Given the description of an element on the screen output the (x, y) to click on. 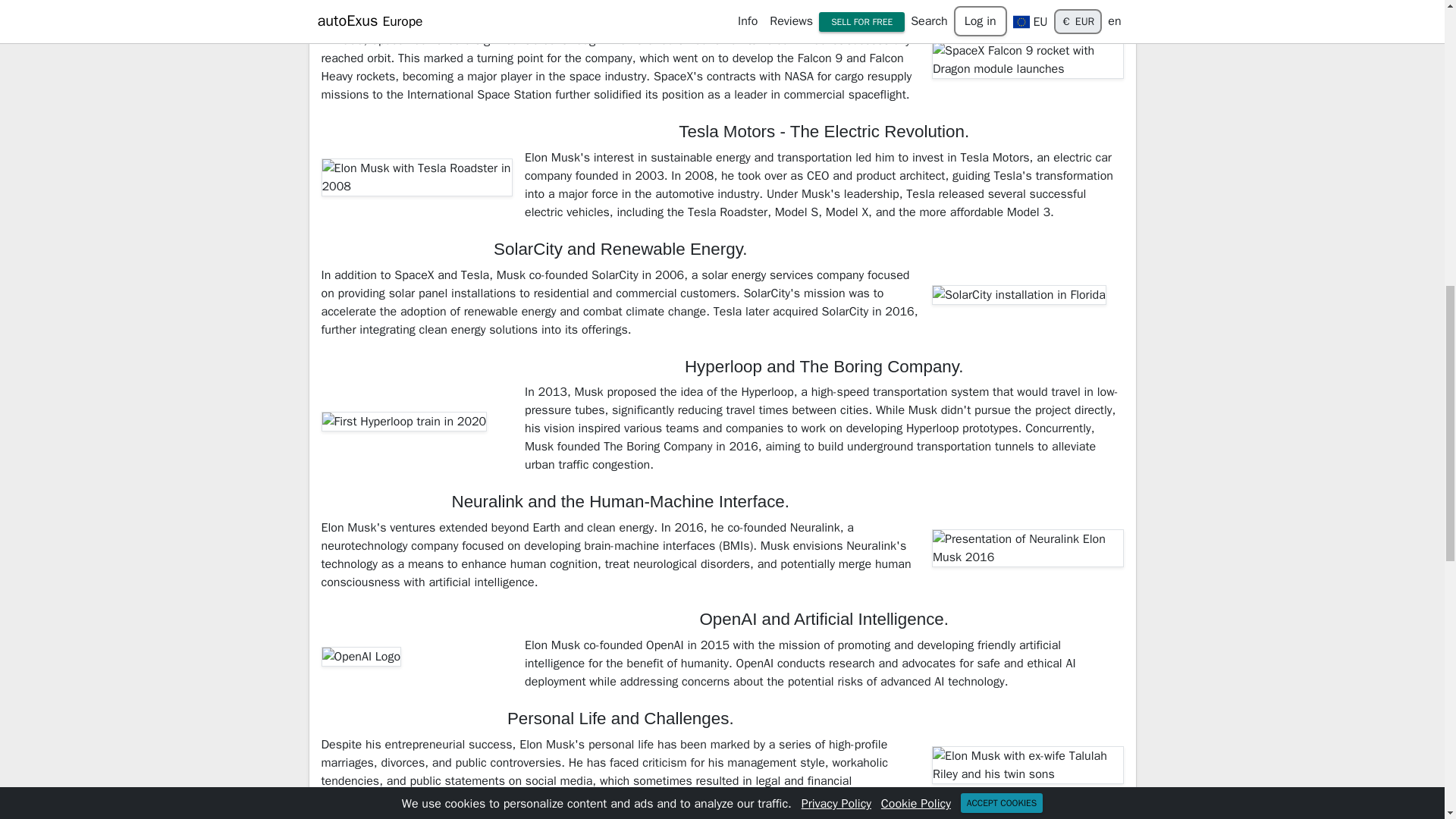
First Hyperloop train in 2020 (404, 421)
Elon Musk with ex-wife Talulah Riley and his twin sons (1027, 764)
SpaceX Falcon 9 rocket with Dragon module launches (1027, 59)
SolarCity installation in Florida (1018, 294)
Presentation of Neuralink Elon Musk 2016 (1027, 548)
OpenAI Logo (361, 656)
Elon Musk with Tesla Roadster in 2008 (417, 177)
